Given the description of an element on the screen output the (x, y) to click on. 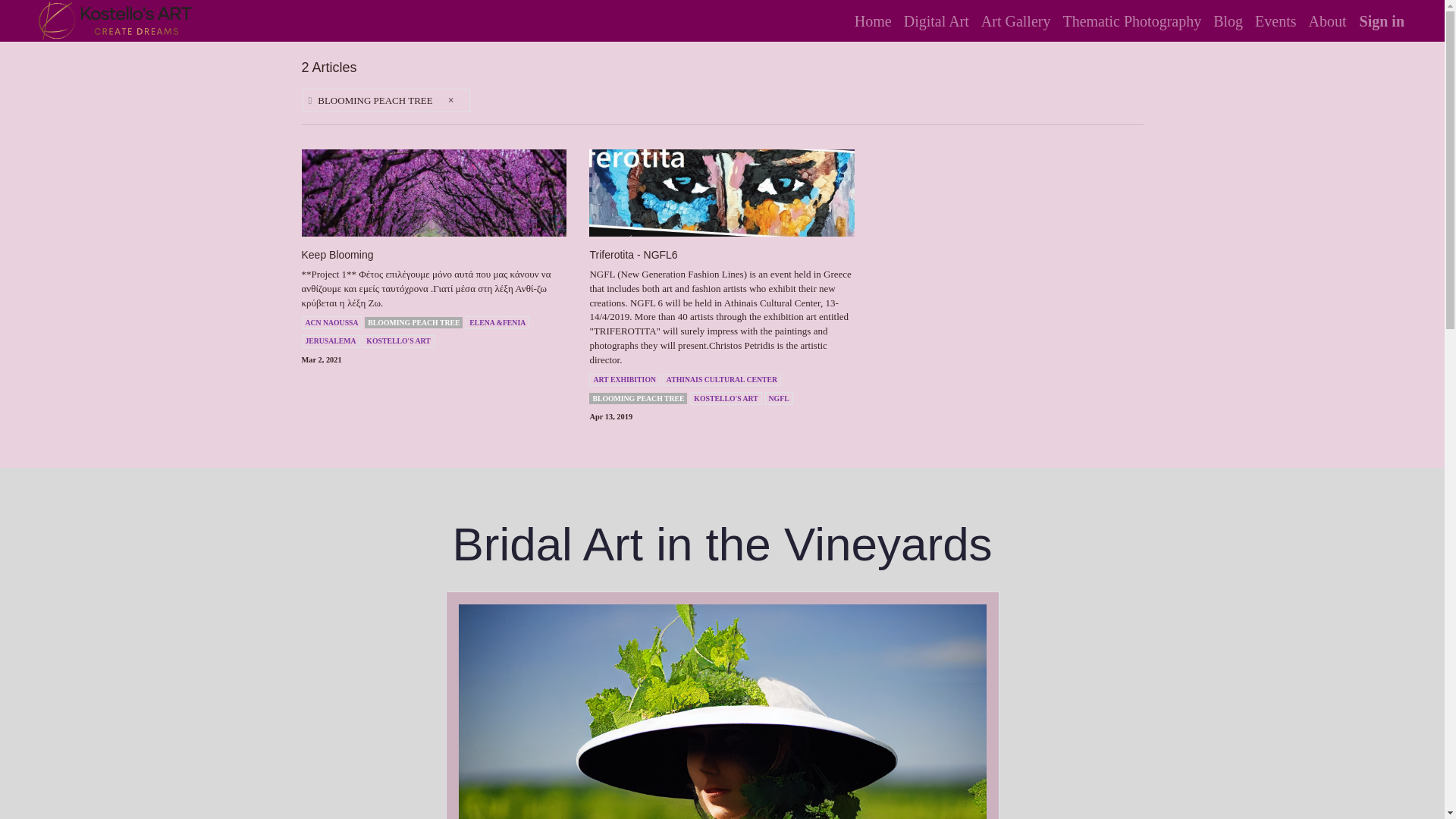
KOSTELLO'S ART (397, 341)
Thematic Photography (1132, 20)
Home (873, 20)
ACN NAOUSSA (331, 322)
Sign in (1382, 20)
Triferotita - NGFL6 (721, 254)
ART EXHIBITION (624, 379)
Blog (1228, 20)
Keep Blooming (434, 254)
Events (1275, 20)
Art Gallery (1016, 20)
JERUSALEMA (330, 341)
BLOOMING PEACH TREE (414, 322)
Kostellosart (115, 20)
Digital Art (936, 20)
